Given the description of an element on the screen output the (x, y) to click on. 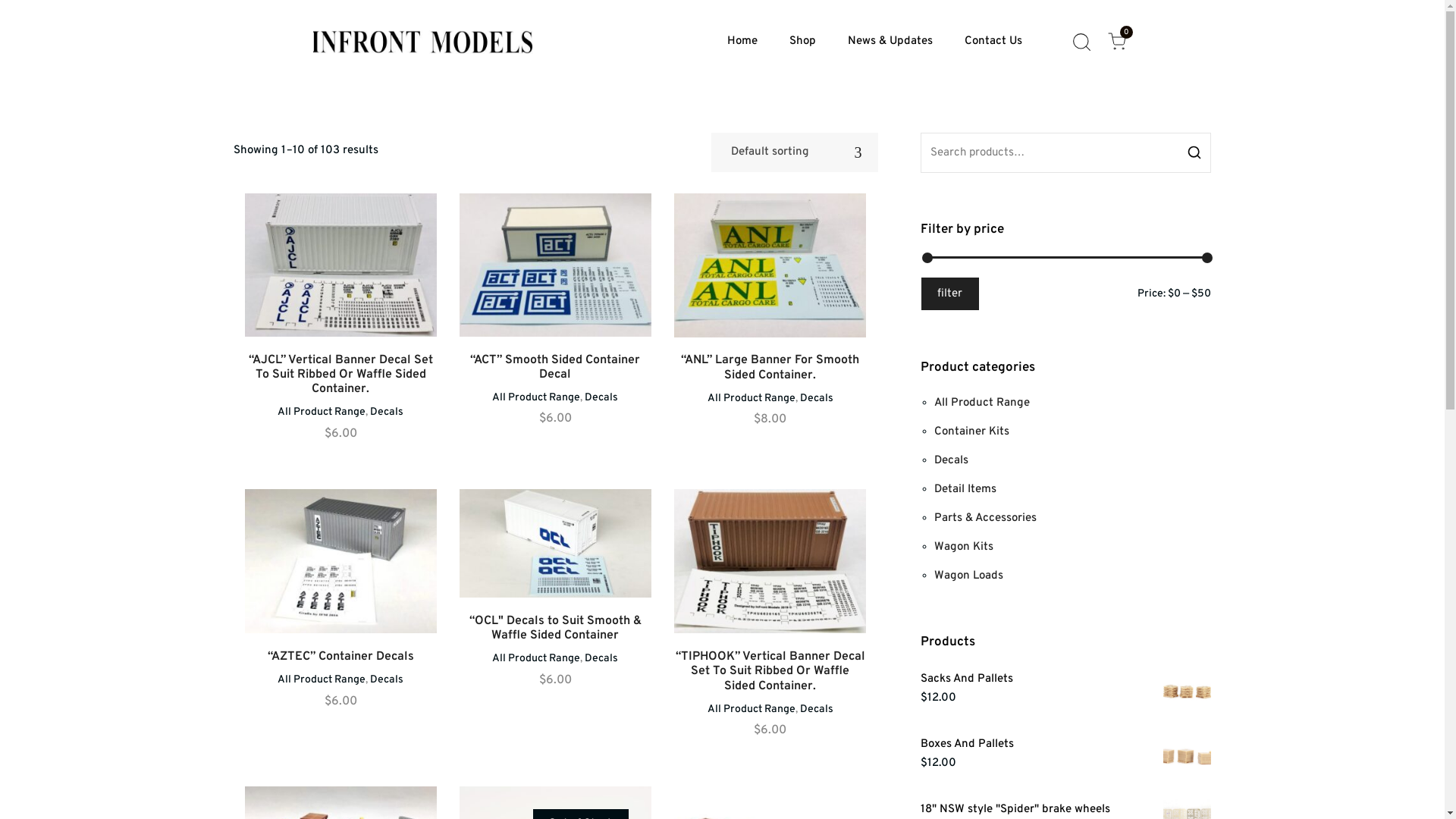
Wagon Loads Element type: text (968, 575)
News & Updates Element type: text (889, 41)
Home Element type: text (742, 41)
Decals Element type: text (386, 679)
All Product Range Element type: text (536, 658)
filter Element type: text (950, 293)
Decals Element type: text (951, 460)
All Product Range Element type: text (751, 708)
Boxes And Pallets Element type: text (1065, 744)
Detail Items Element type: text (965, 489)
All Product Range Element type: text (751, 398)
Decals Element type: text (601, 397)
Contact Us Element type: text (993, 41)
Parts & Accessories Element type: text (985, 518)
Container Kits Element type: text (971, 431)
Decals Element type: text (601, 658)
Wagon Kits Element type: text (963, 546)
Shop Element type: text (802, 41)
Decals Element type: text (816, 398)
Decals Element type: text (816, 708)
All Product Range Element type: text (321, 411)
Sacks And Pallets Element type: text (1065, 678)
Decals Element type: text (386, 411)
All Product Range Element type: text (321, 679)
All Product Range Element type: text (981, 402)
0 Element type: text (1116, 41)
All Product Range Element type: text (536, 397)
